Given the description of an element on the screen output the (x, y) to click on. 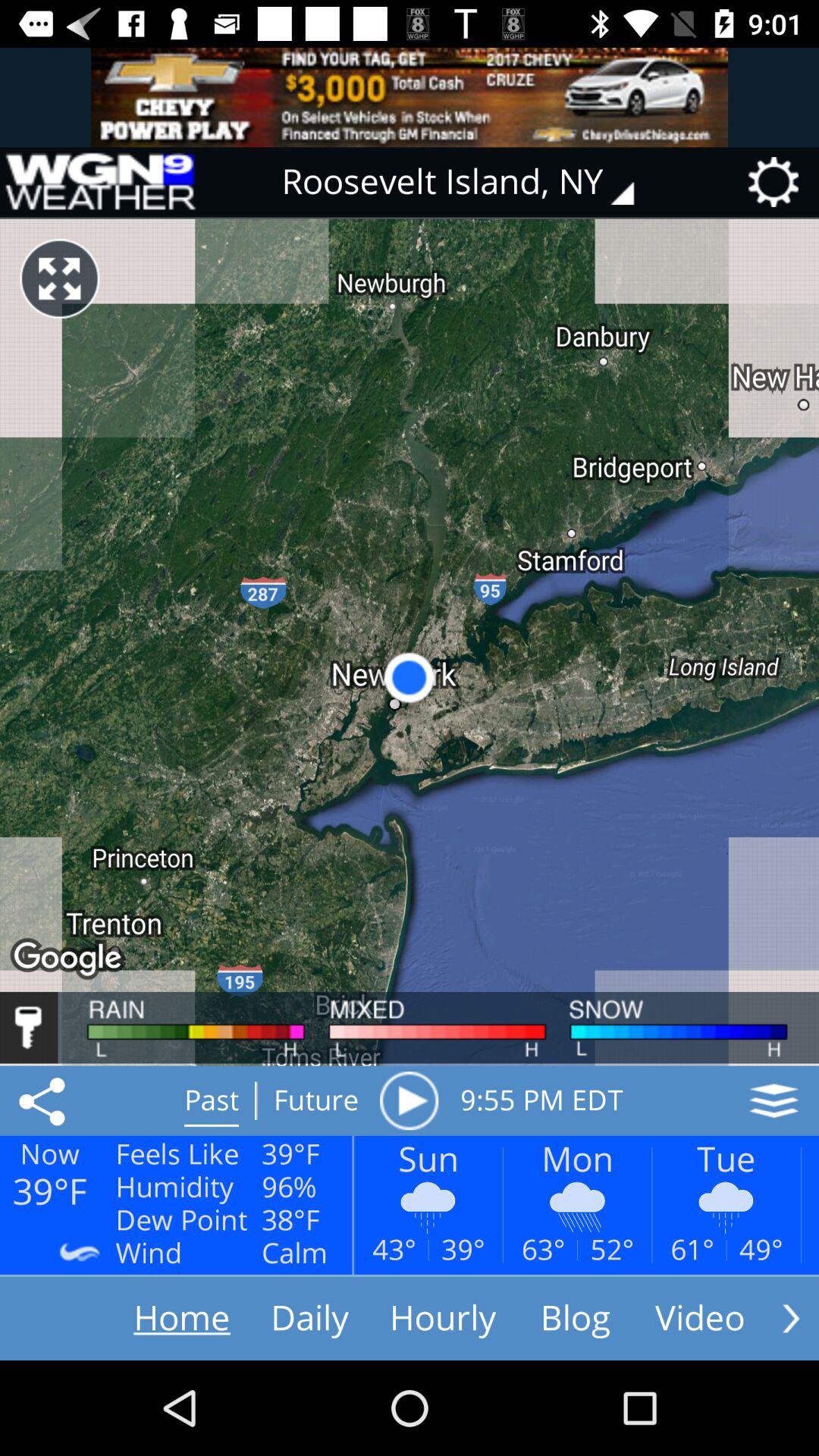
open share options (44, 1100)
